Given the description of an element on the screen output the (x, y) to click on. 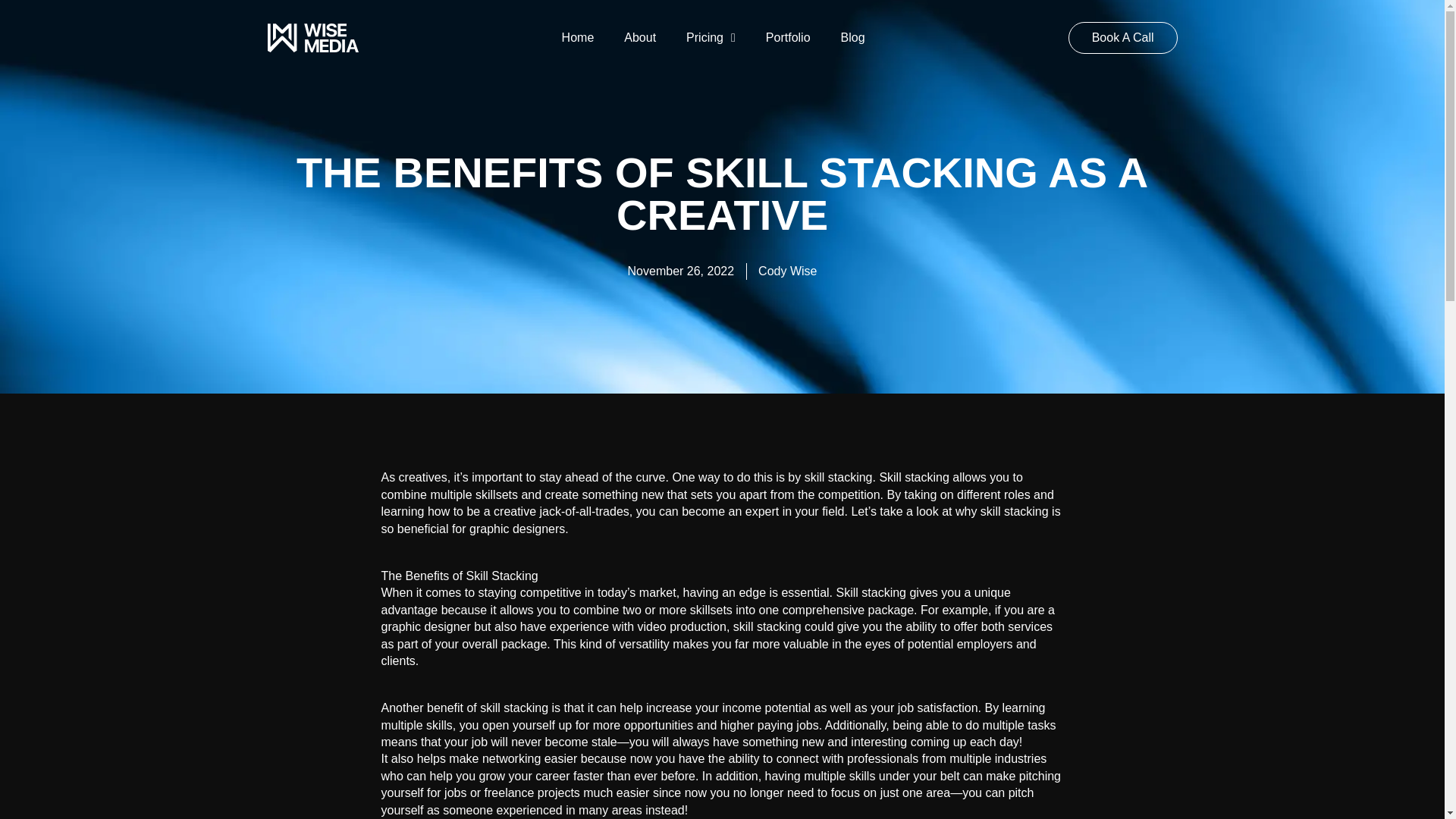
Pricing (711, 37)
Portfolio (788, 37)
Home (578, 37)
Book A Call (1122, 38)
Blog (852, 37)
About (639, 37)
